Given the description of an element on the screen output the (x, y) to click on. 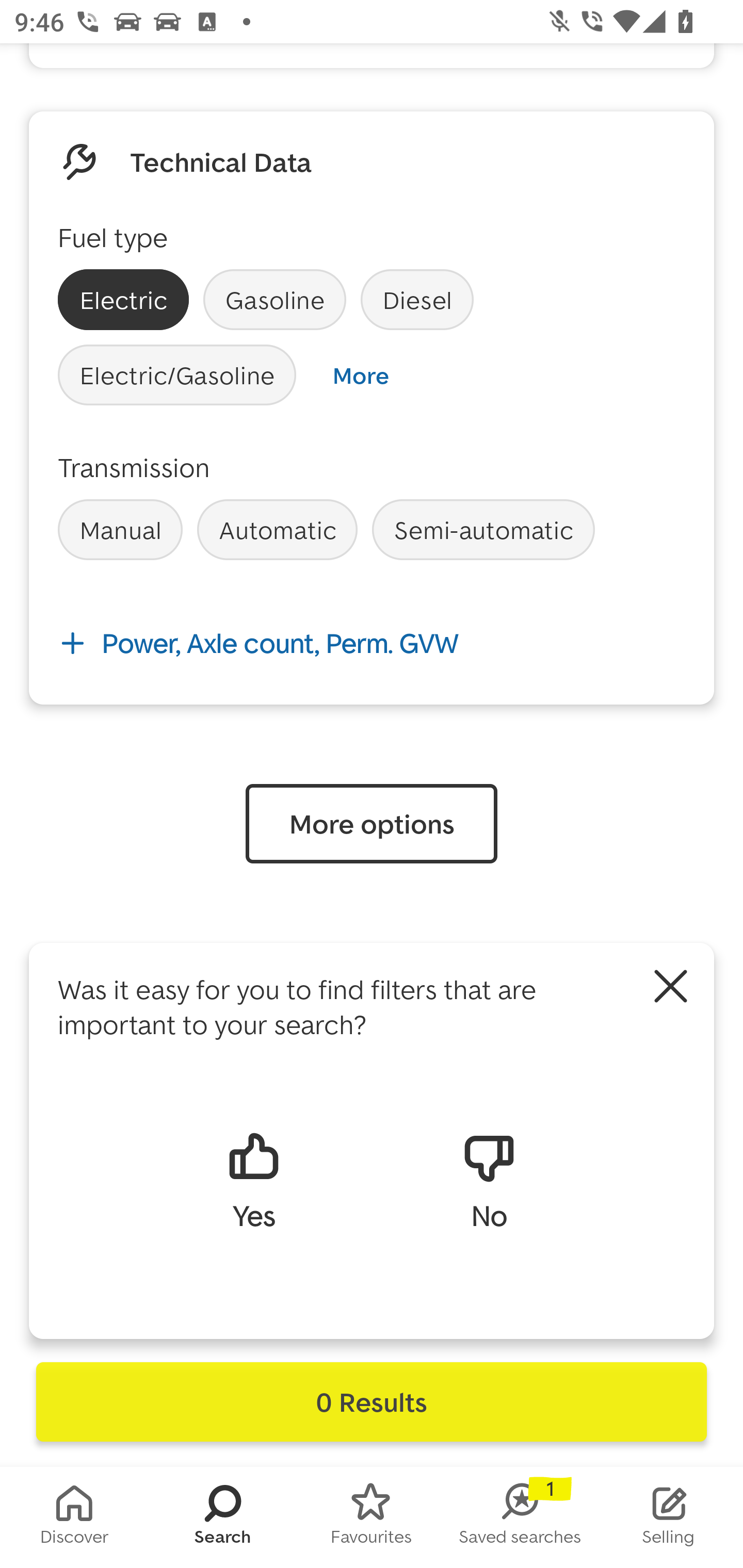
Technical Data (221, 161)
Fuel type (112, 236)
Electric (122, 299)
Gasoline (274, 299)
Diesel (417, 299)
Electric/Gasoline (176, 375)
More (360, 375)
Transmission (133, 467)
Manual (119, 528)
Automatic (276, 528)
Semi-automatic (483, 528)
Power, Axle count, Perm. GVW (371, 643)
More options (371, 823)
Yes (253, 1179)
No (489, 1179)
0 Results (371, 1401)
HOMESCREEN Discover (74, 1517)
SEARCH Search (222, 1517)
FAVORITES Favourites (371, 1517)
SAVED_SEARCHES Saved searches 1 (519, 1517)
STOCK_LIST Selling (668, 1517)
